Given the description of an element on the screen output the (x, y) to click on. 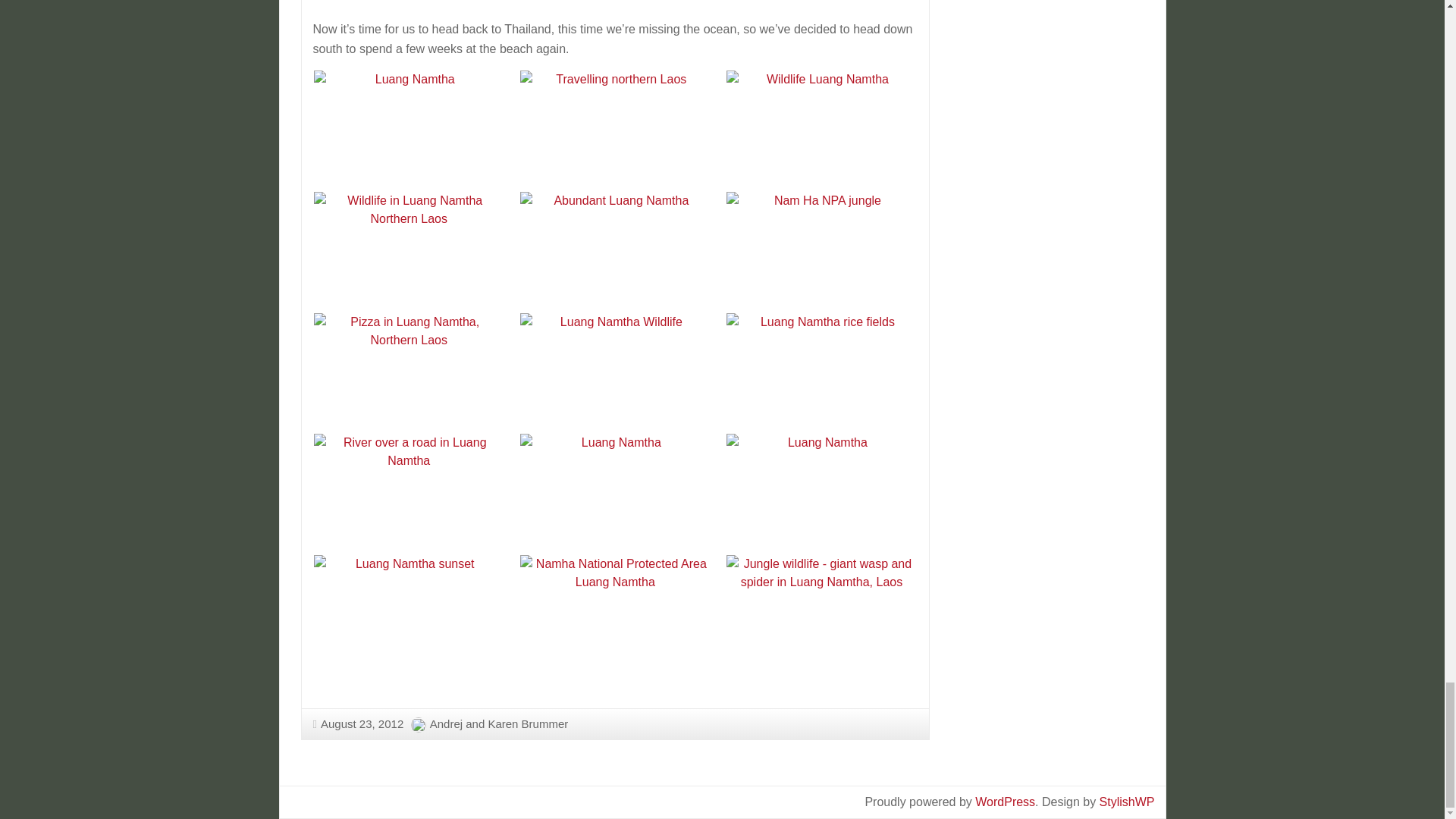
August 23, 2012 (358, 723)
StylishWP (1126, 801)
Monks riding past us, rice in front, jungle behind (615, 3)
Andrej and Karen Brummer (499, 723)
WordPress (1005, 801)
BlogoLife (1126, 801)
